Given the description of an element on the screen output the (x, y) to click on. 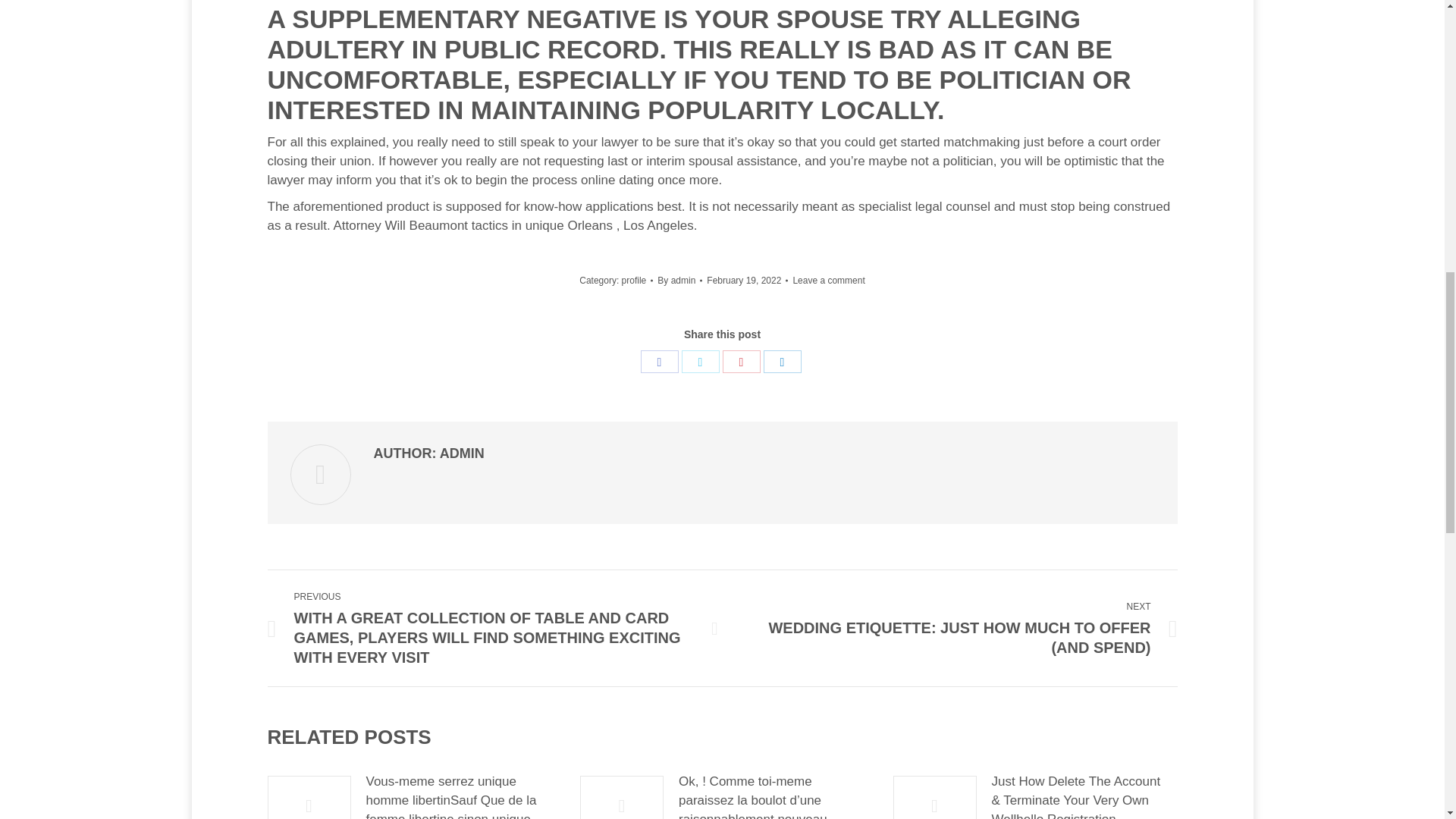
3:35 pm (746, 280)
profile (633, 280)
Twitter (700, 361)
Leave a comment (828, 280)
February 19, 2022 (746, 280)
Share on LinkedIn (781, 361)
Share on Twitter (700, 361)
Share on Facebook (659, 361)
